Given the description of an element on the screen output the (x, y) to click on. 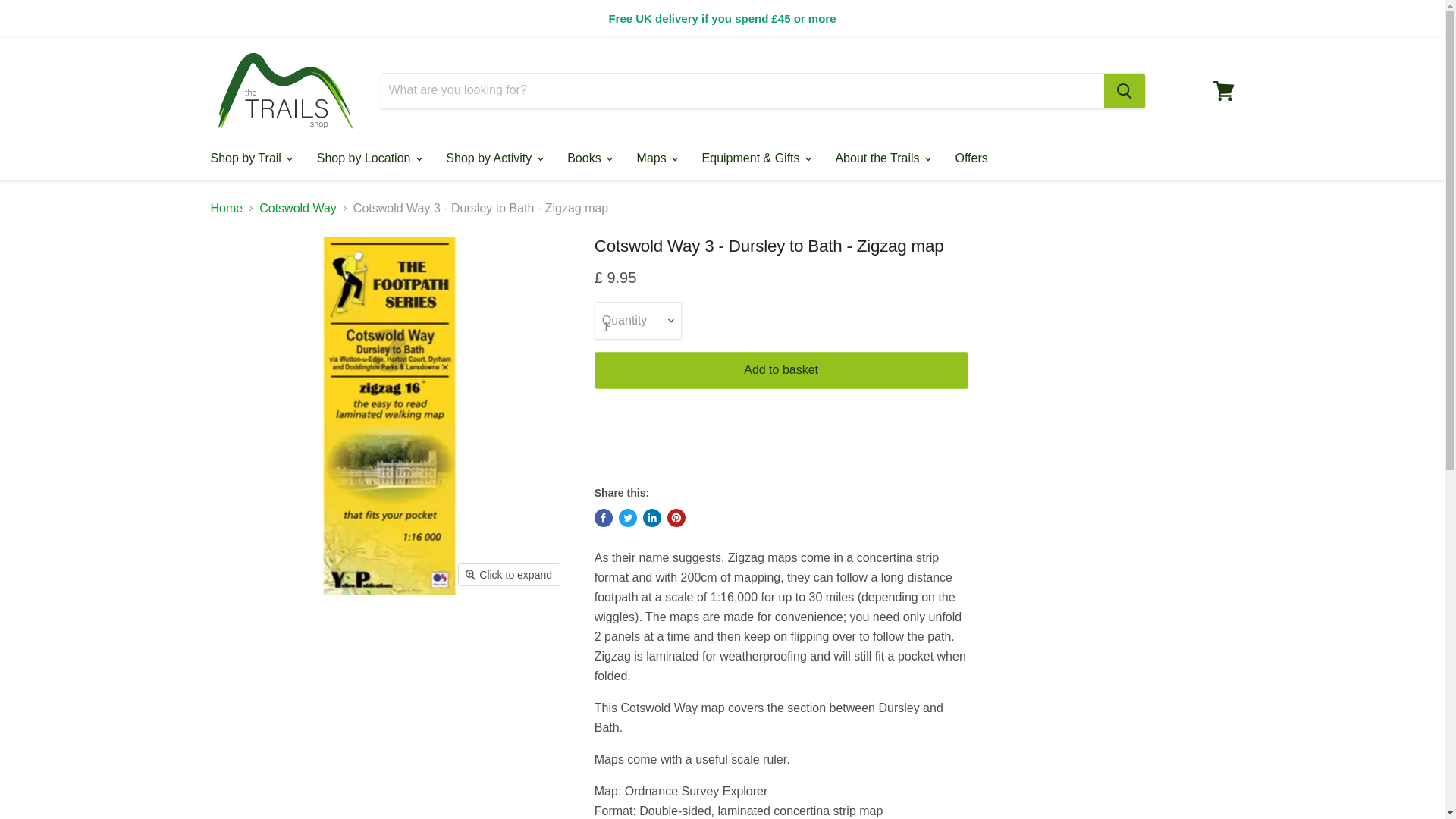
View basket (1223, 89)
Shop by Trail (249, 158)
